Given the description of an element on the screen output the (x, y) to click on. 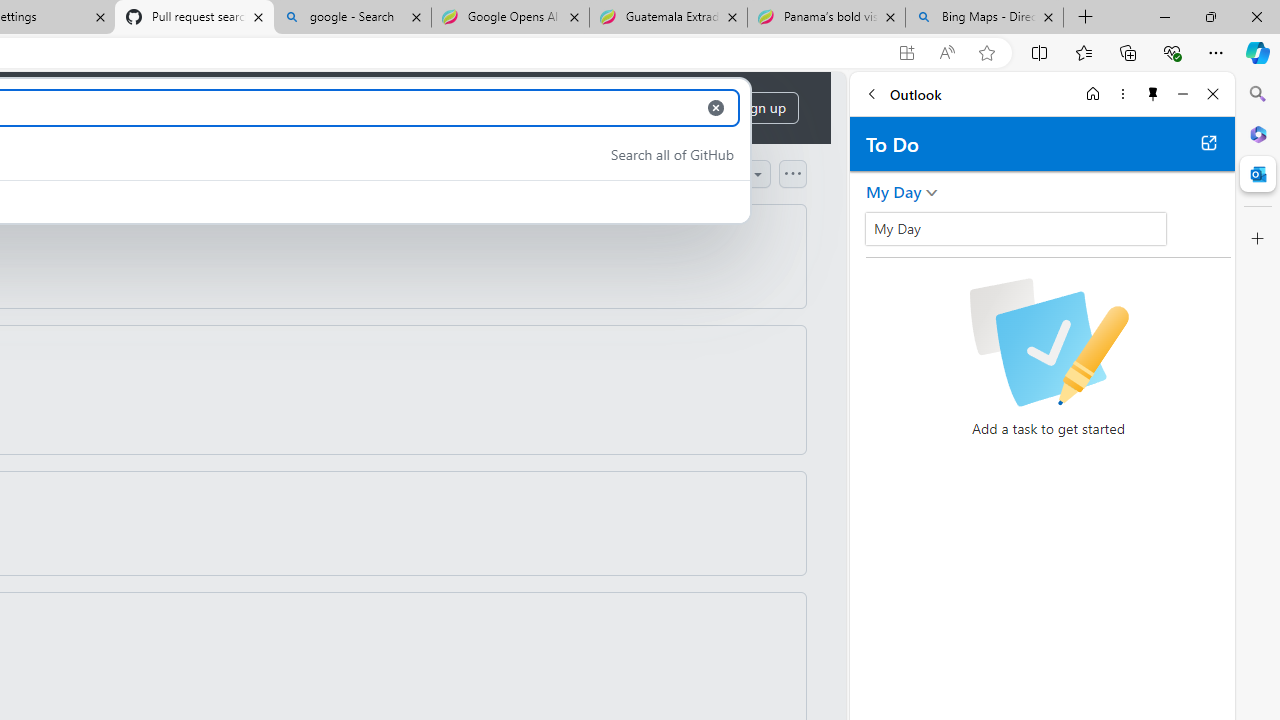
Open column options (792, 173)
App available. Install GitHub (906, 53)
Sign in (680, 107)
Add a task (881, 235)
Unpin side pane (1153, 93)
Sign up (761, 107)
